Given the description of an element on the screen output the (x, y) to click on. 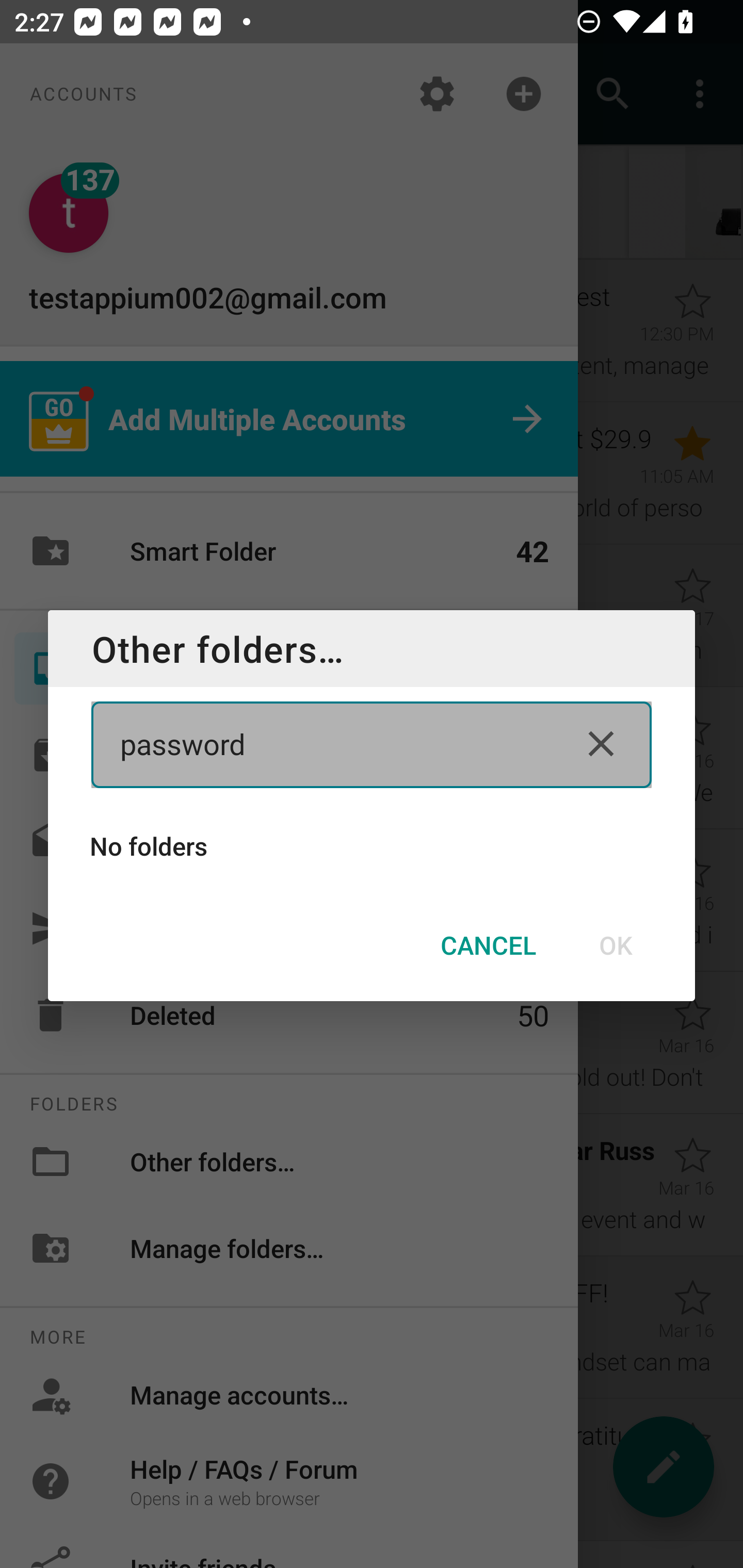
password (334, 743)
Cancel (600, 743)
No folders (371, 845)
CANCEL (488, 945)
OK (615, 945)
